Given the description of an element on the screen output the (x, y) to click on. 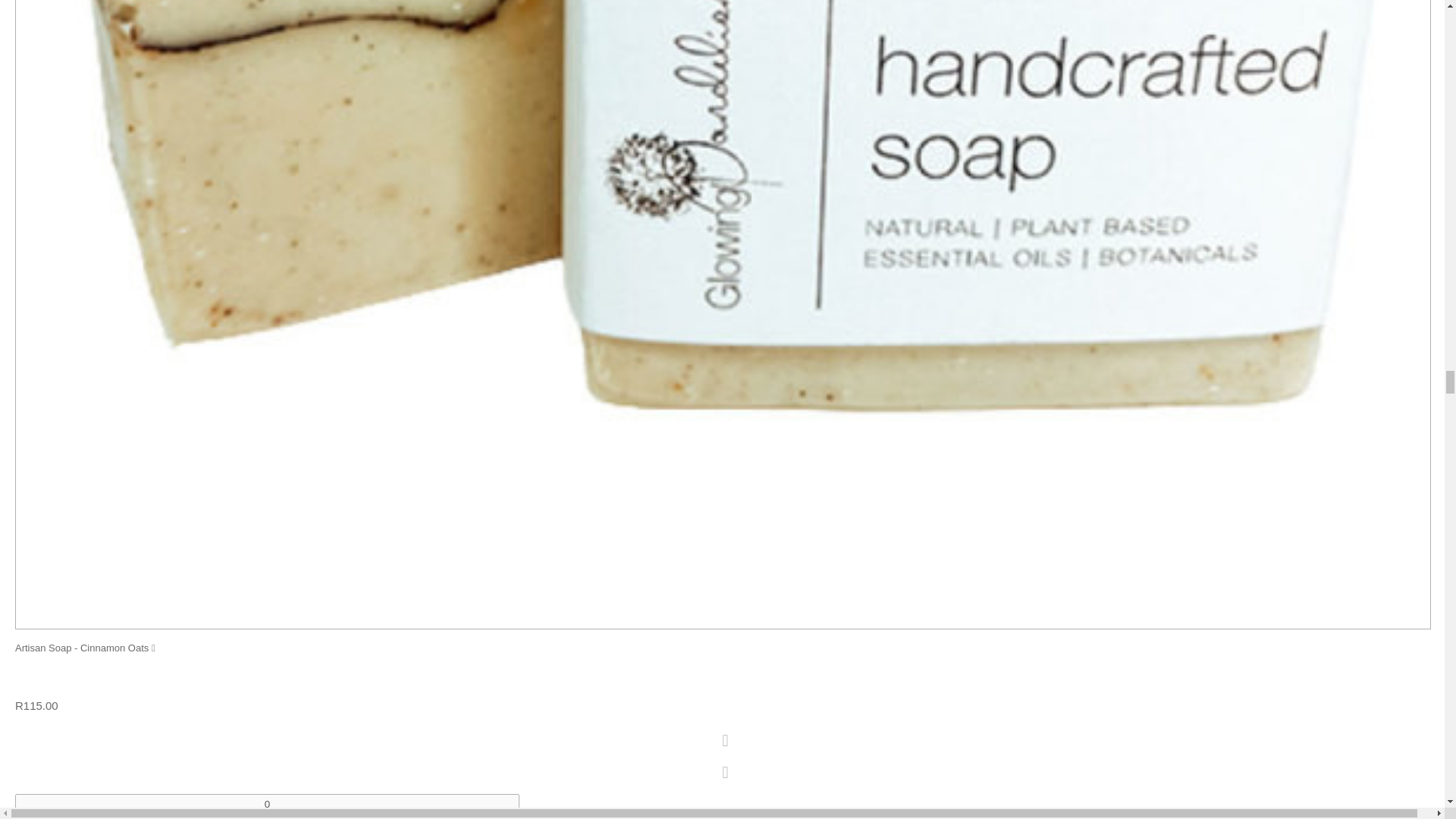
0 (266, 803)
